Given the description of an element on the screen output the (x, y) to click on. 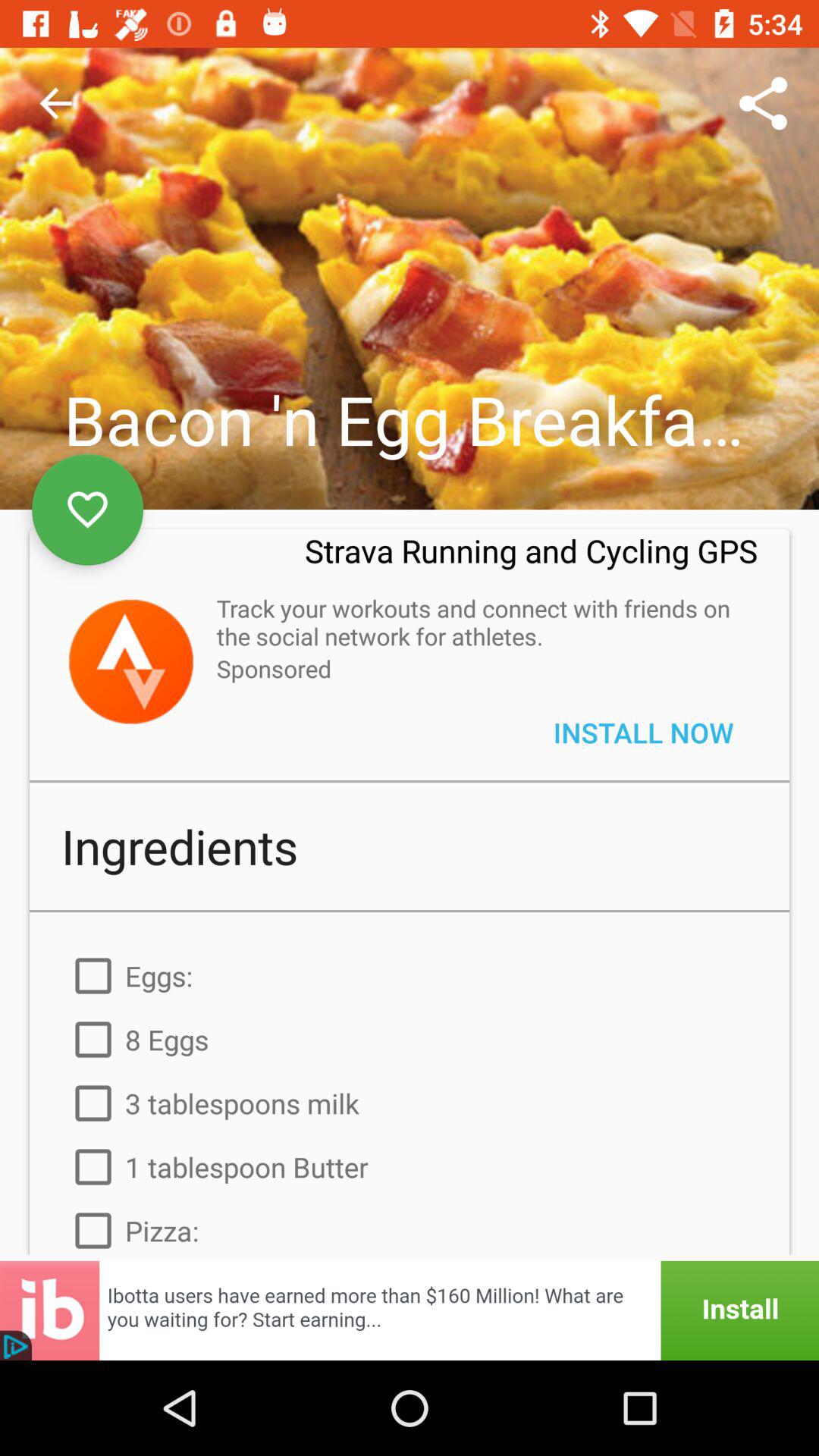
tap icon above the 3 tablespoons milk icon (409, 1039)
